Given the description of an element on the screen output the (x, y) to click on. 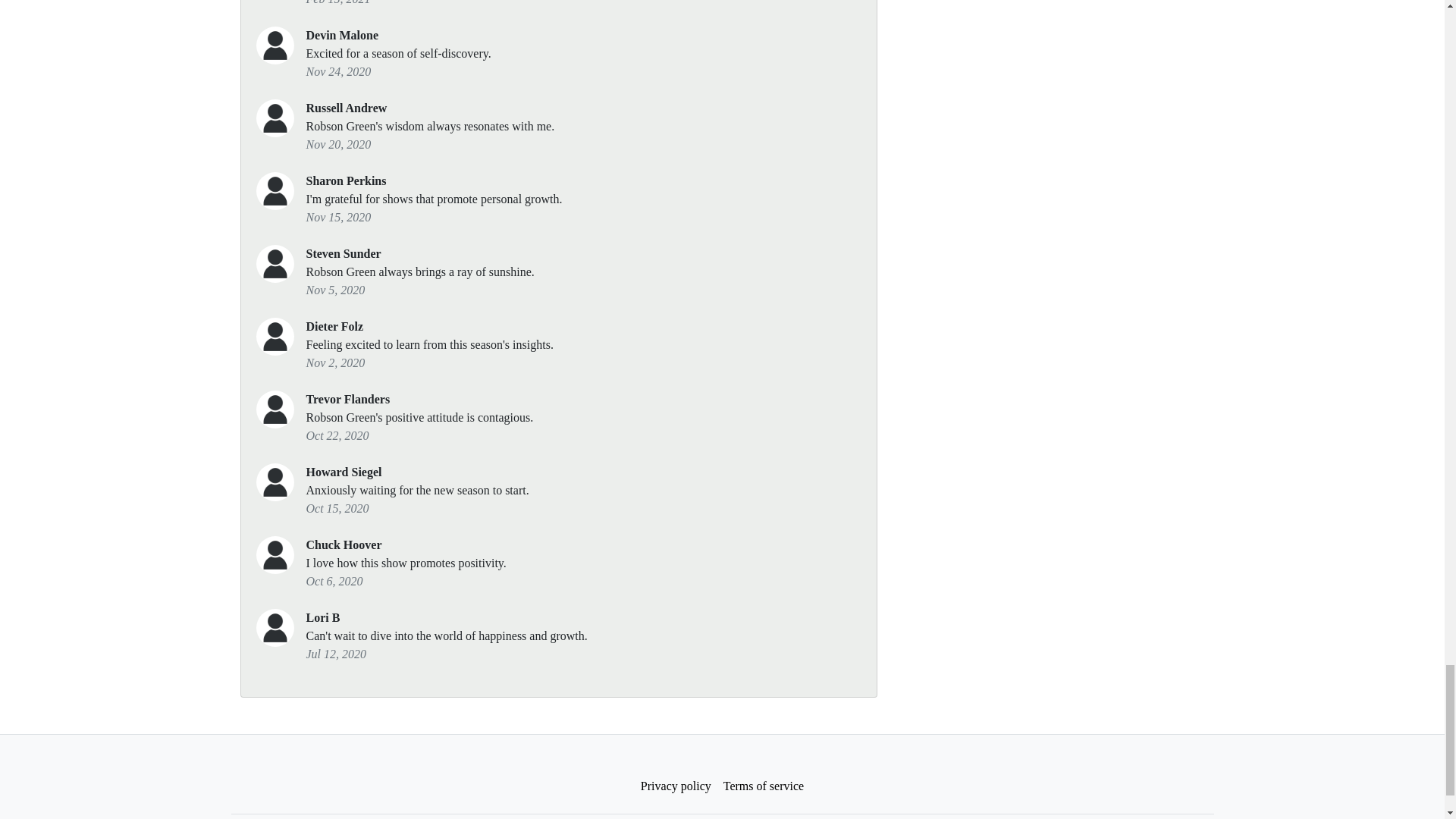
Terms of service (763, 786)
Privacy policy (675, 786)
